Given the description of an element on the screen output the (x, y) to click on. 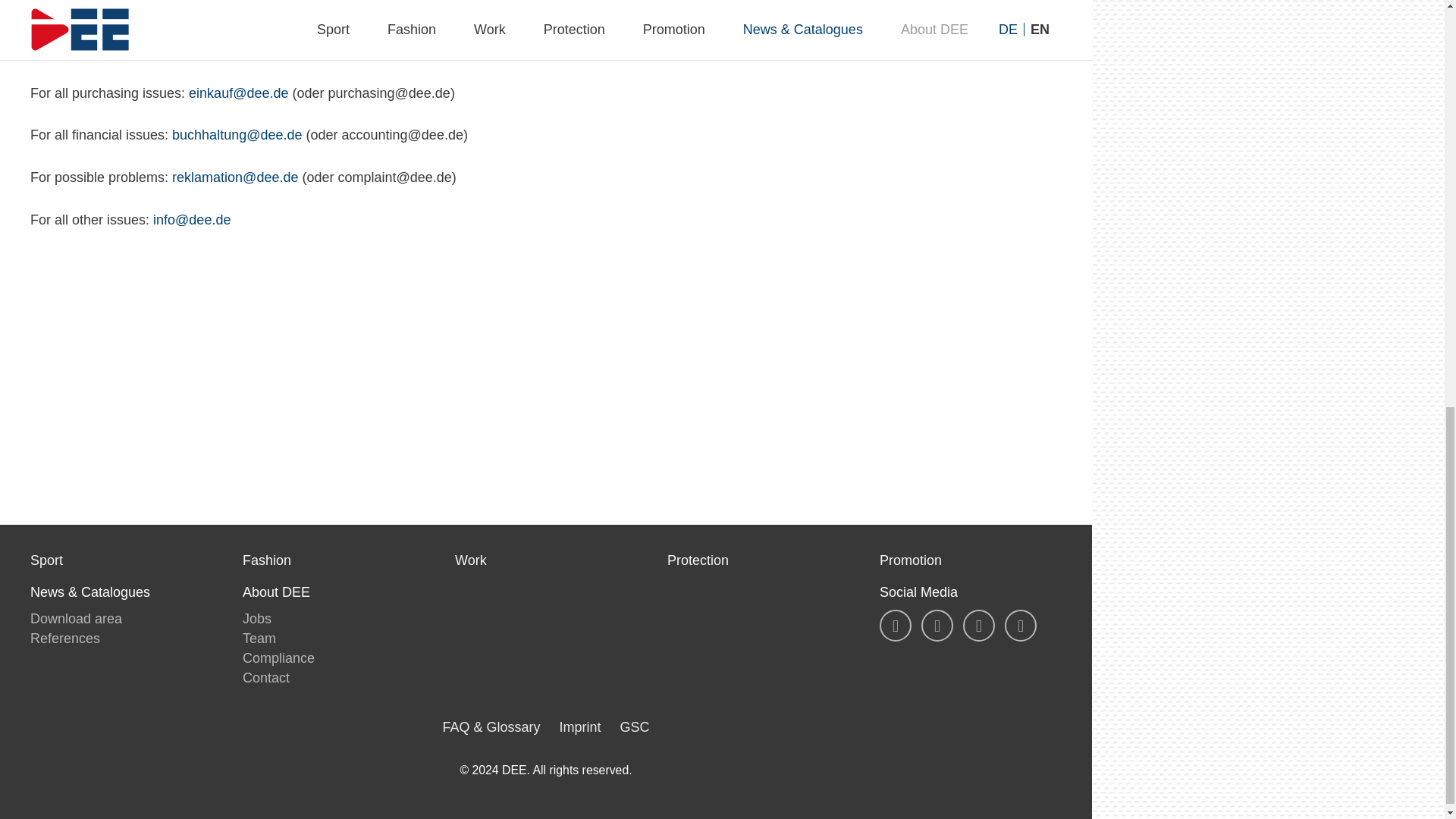
Promotion (970, 560)
Sport (121, 560)
Protection (757, 560)
Imprint (580, 726)
Fashion (334, 560)
Work (545, 560)
Opens internal link in current window (582, 30)
Opens internal link in current window (236, 134)
References (65, 638)
Download area (76, 618)
